Given the description of an element on the screen output the (x, y) to click on. 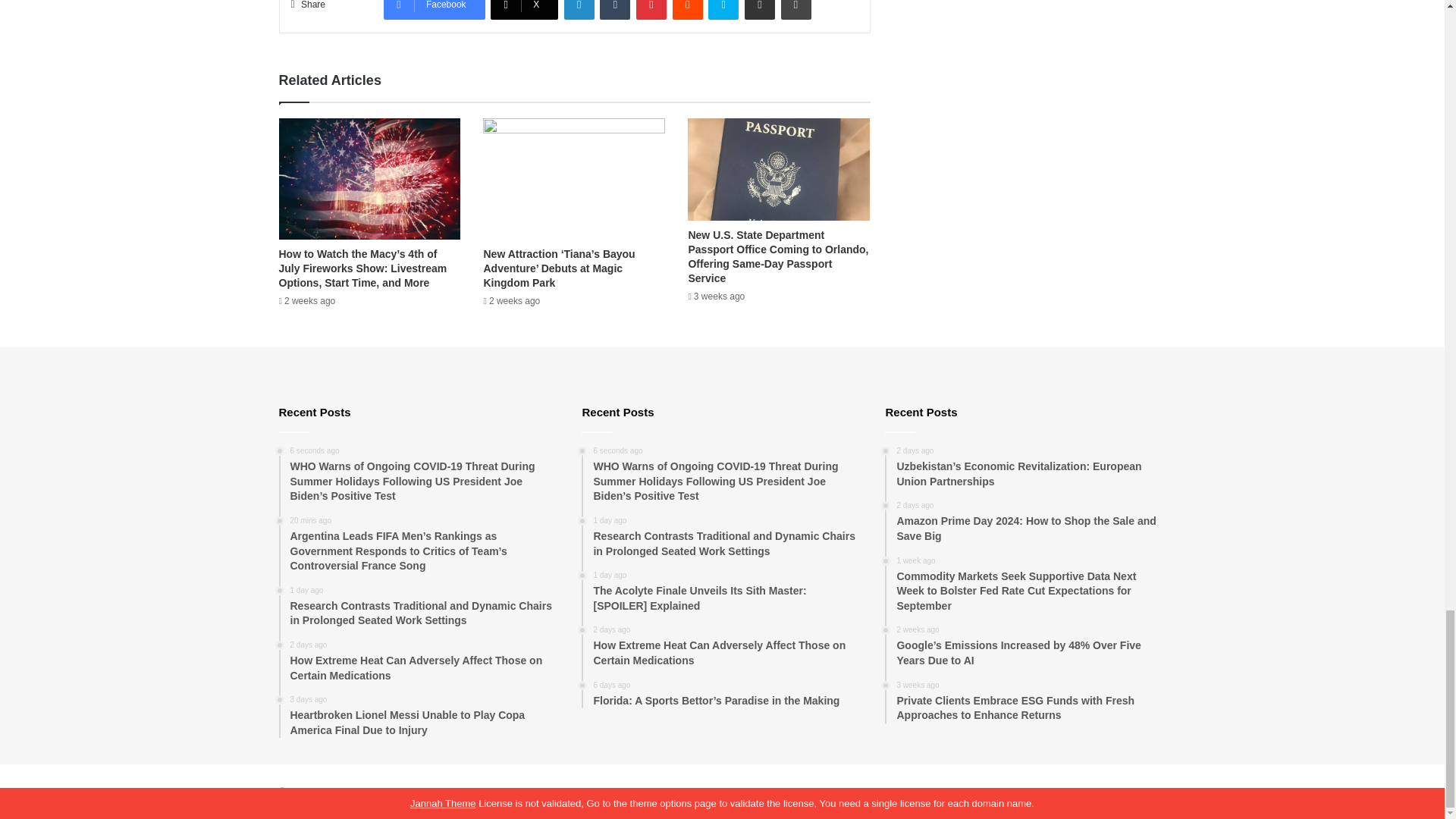
Share via Email (759, 9)
Facebook (434, 9)
Reddit (687, 9)
Pinterest (651, 9)
Pinterest (651, 9)
Print (795, 9)
Skype (722, 9)
Facebook (434, 9)
Tumblr (614, 9)
Skype (722, 9)
X (523, 9)
LinkedIn (579, 9)
Share via Email (759, 9)
Reddit (687, 9)
LinkedIn (579, 9)
